Given the description of an element on the screen output the (x, y) to click on. 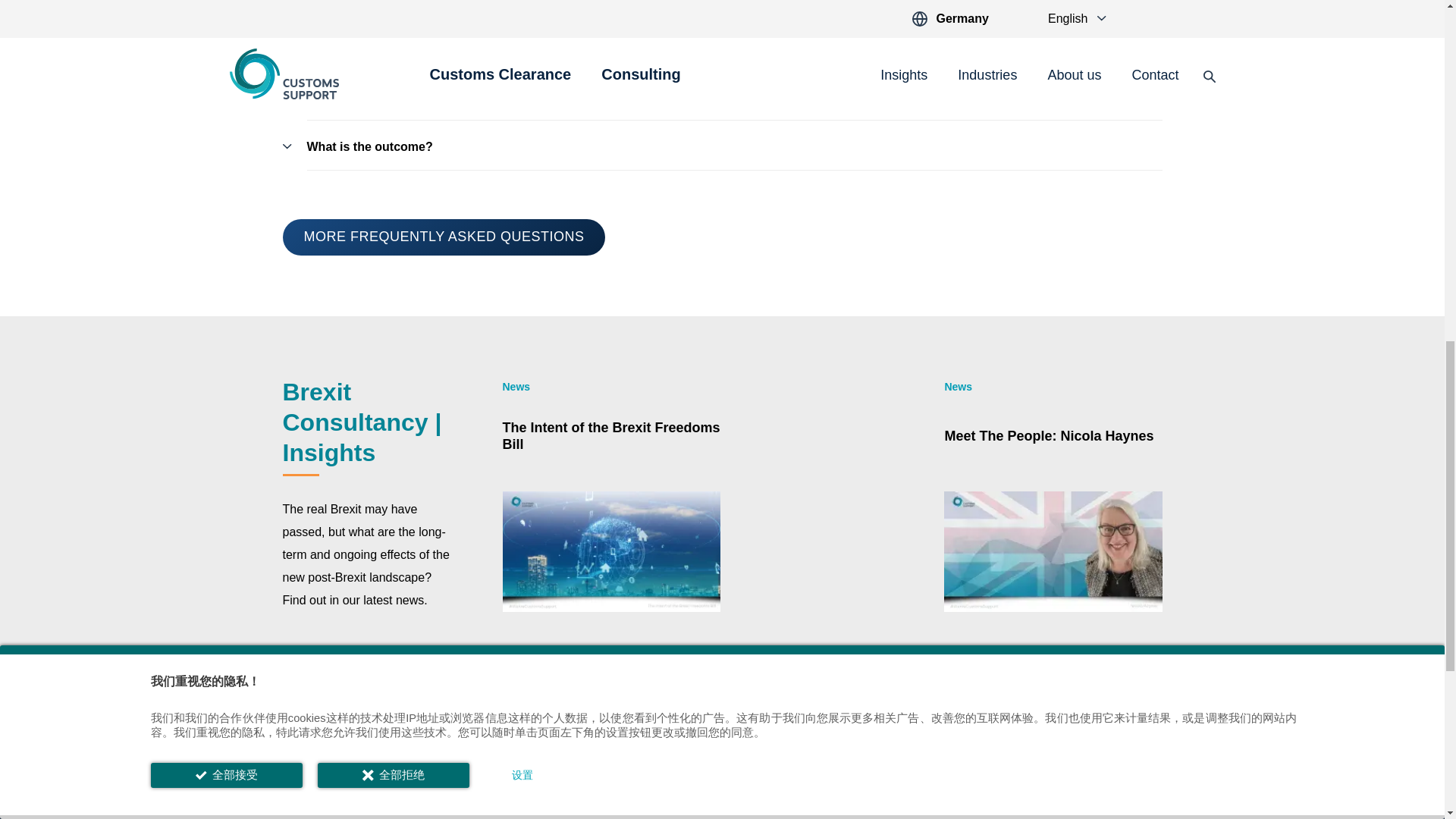
Subscribe (926, 780)
